Given the description of an element on the screen output the (x, y) to click on. 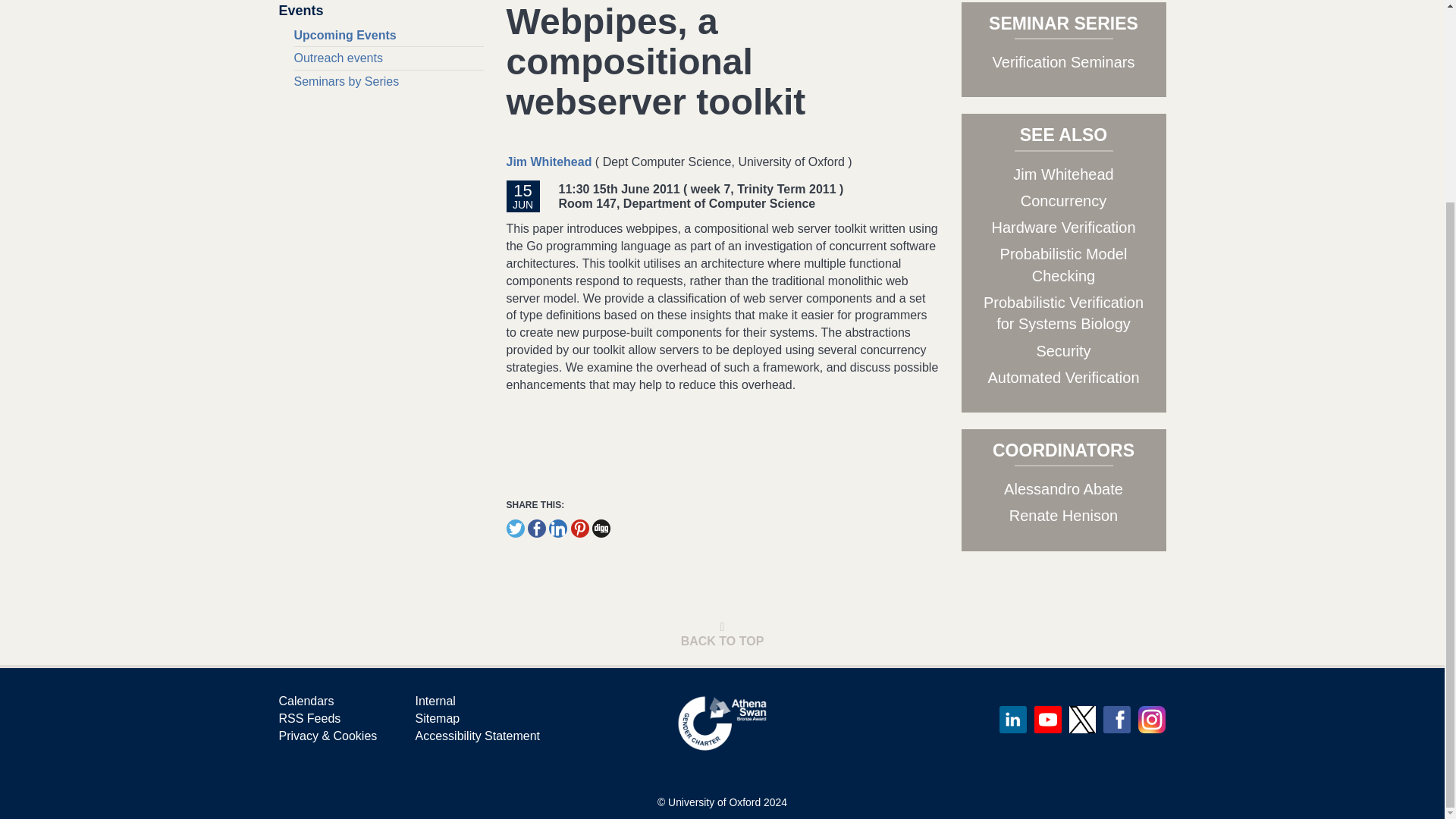
Probabilistic Model Checking (1063, 264)
Verification Seminars (1063, 62)
Alessandro Abate (1063, 488)
Concurrency (1063, 200)
Automated Verification (1062, 377)
Hardware Verification (1063, 227)
Renate Henison (1063, 515)
Security (1062, 351)
Probabilistic Verification for Systems Biology (1063, 313)
Jim Whitehead (549, 161)
